Given the description of an element on the screen output the (x, y) to click on. 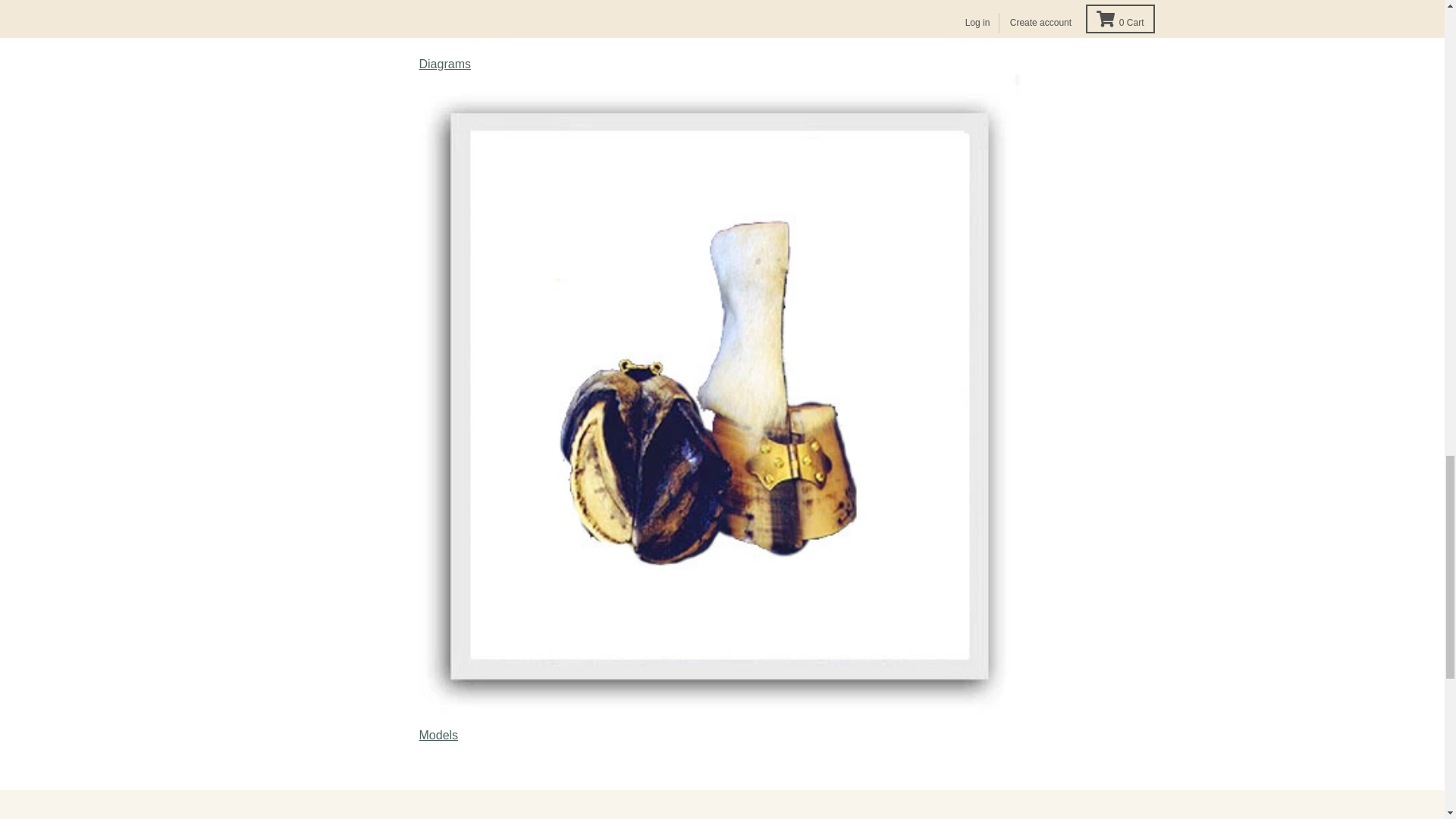
Diagrams (722, 24)
